Given the description of an element on the screen output the (x, y) to click on. 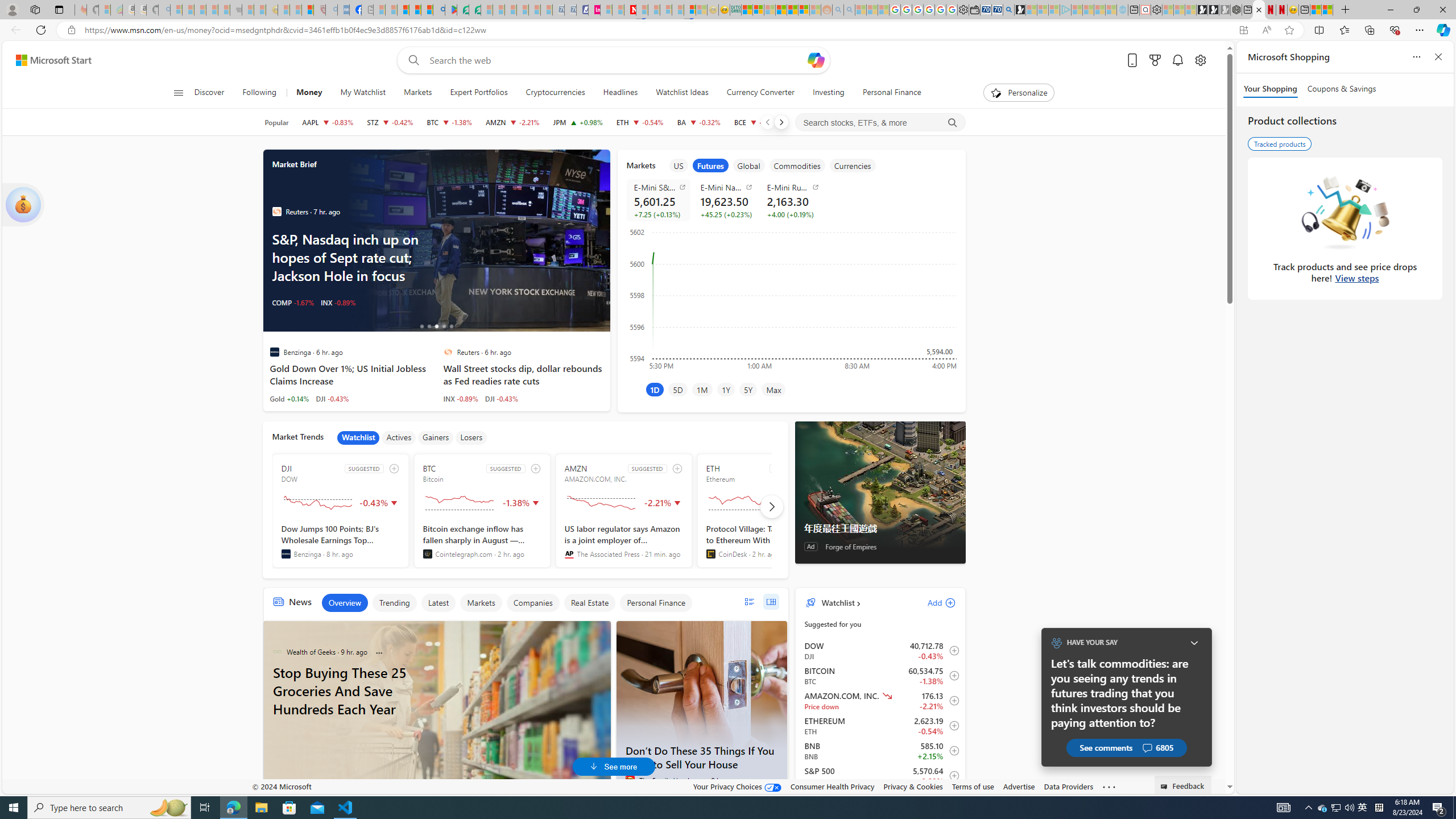
Watchlist Ideas (682, 92)
The Associated Press (568, 553)
Reuters (447, 351)
Investing (828, 92)
Markets (417, 92)
Add (932, 602)
